Given the description of an element on the screen output the (x, y) to click on. 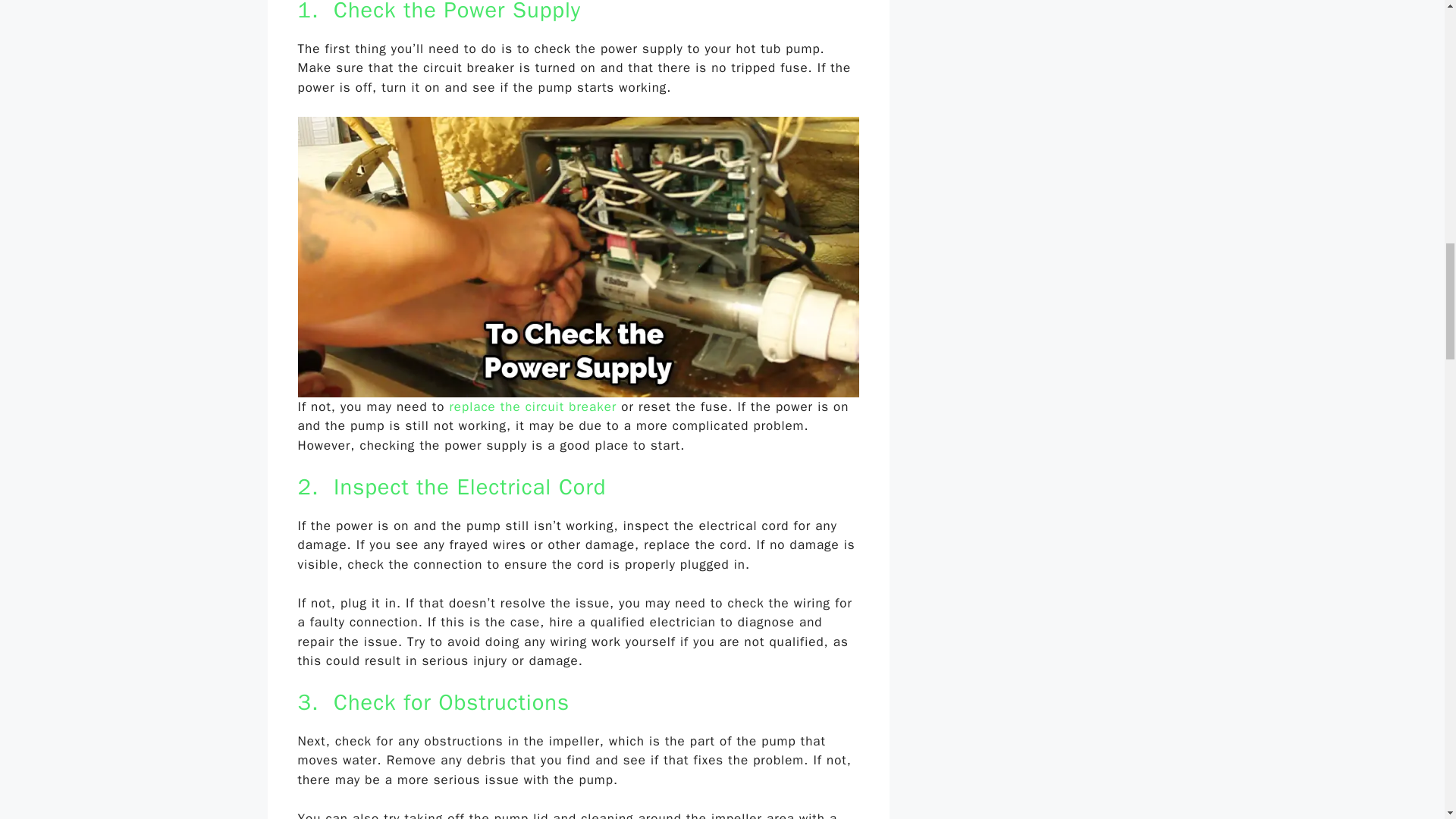
replace the circuit breaker (531, 406)
